Given the description of an element on the screen output the (x, y) to click on. 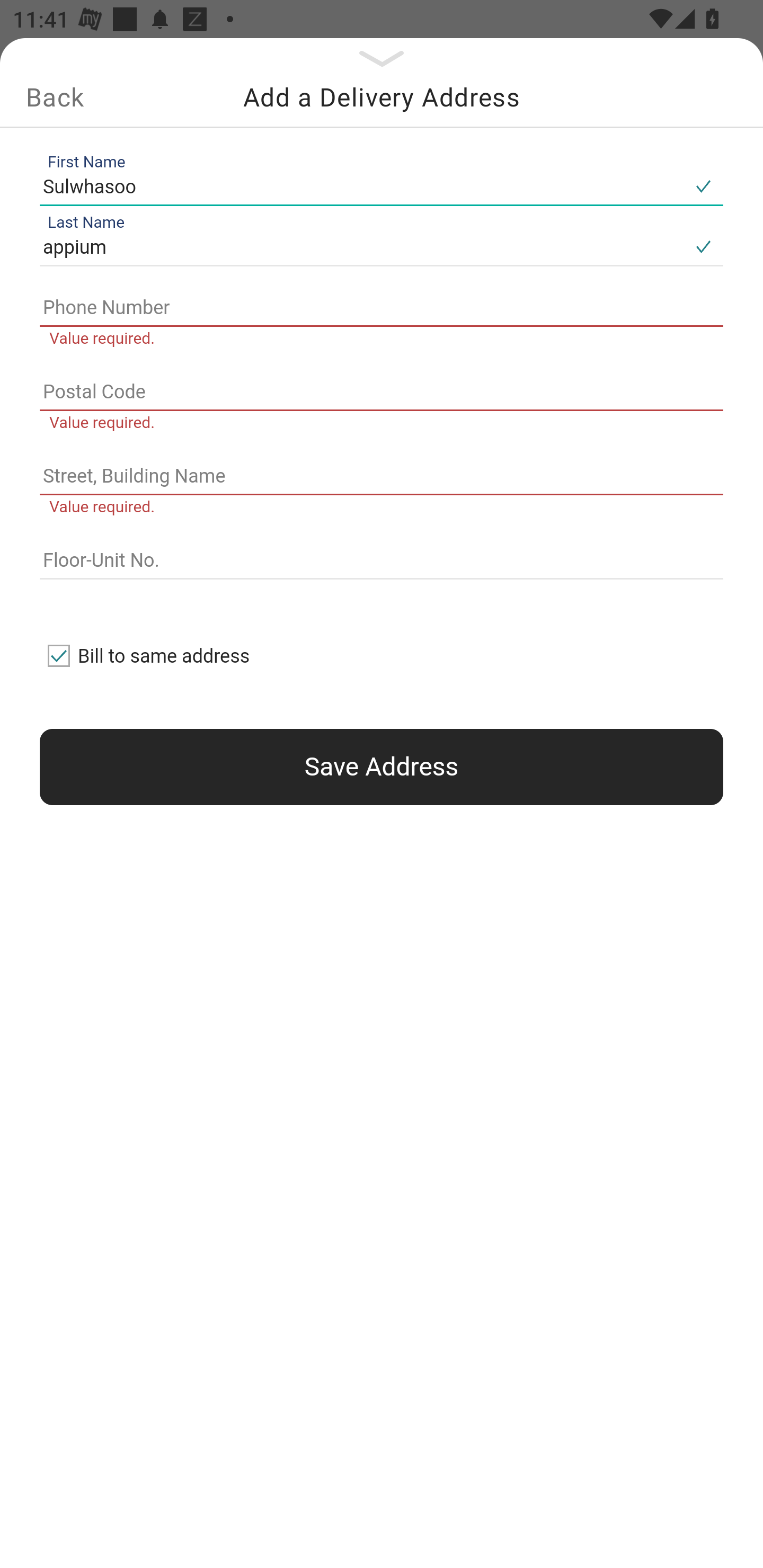
Back (54, 96)
Add a Delivery Address (381, 96)
Sulwhasoo (361, 186)
appium (361, 247)
Save Address (381, 767)
